Given the description of an element on the screen output the (x, y) to click on. 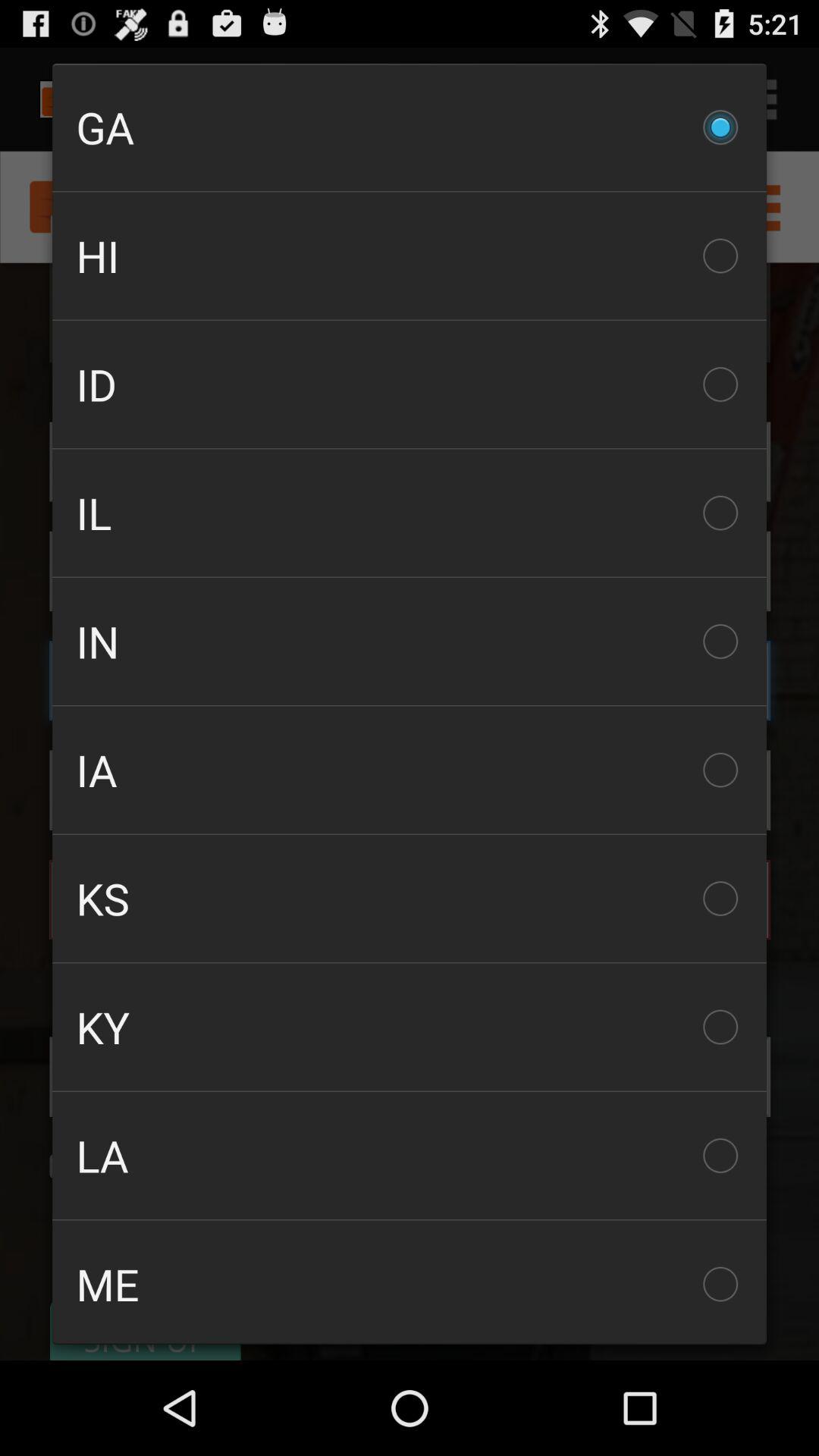
press the ga item (409, 127)
